Given the description of an element on the screen output the (x, y) to click on. 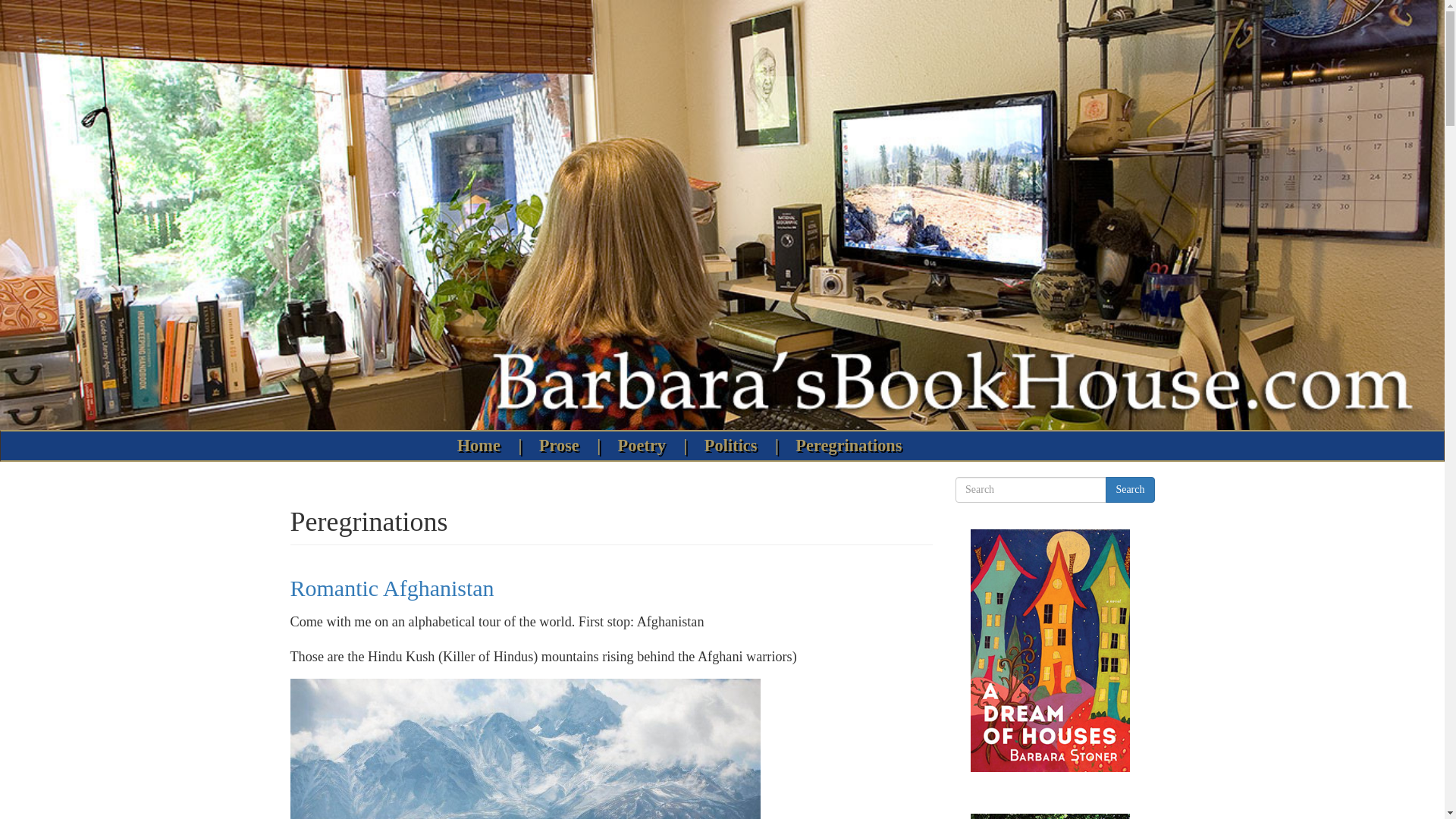
Politics (734, 445)
Romantic Afghanistan (391, 587)
Prose (563, 445)
Home (481, 445)
Peregrinations (848, 445)
Poetry (645, 445)
